Given the description of an element on the screen output the (x, y) to click on. 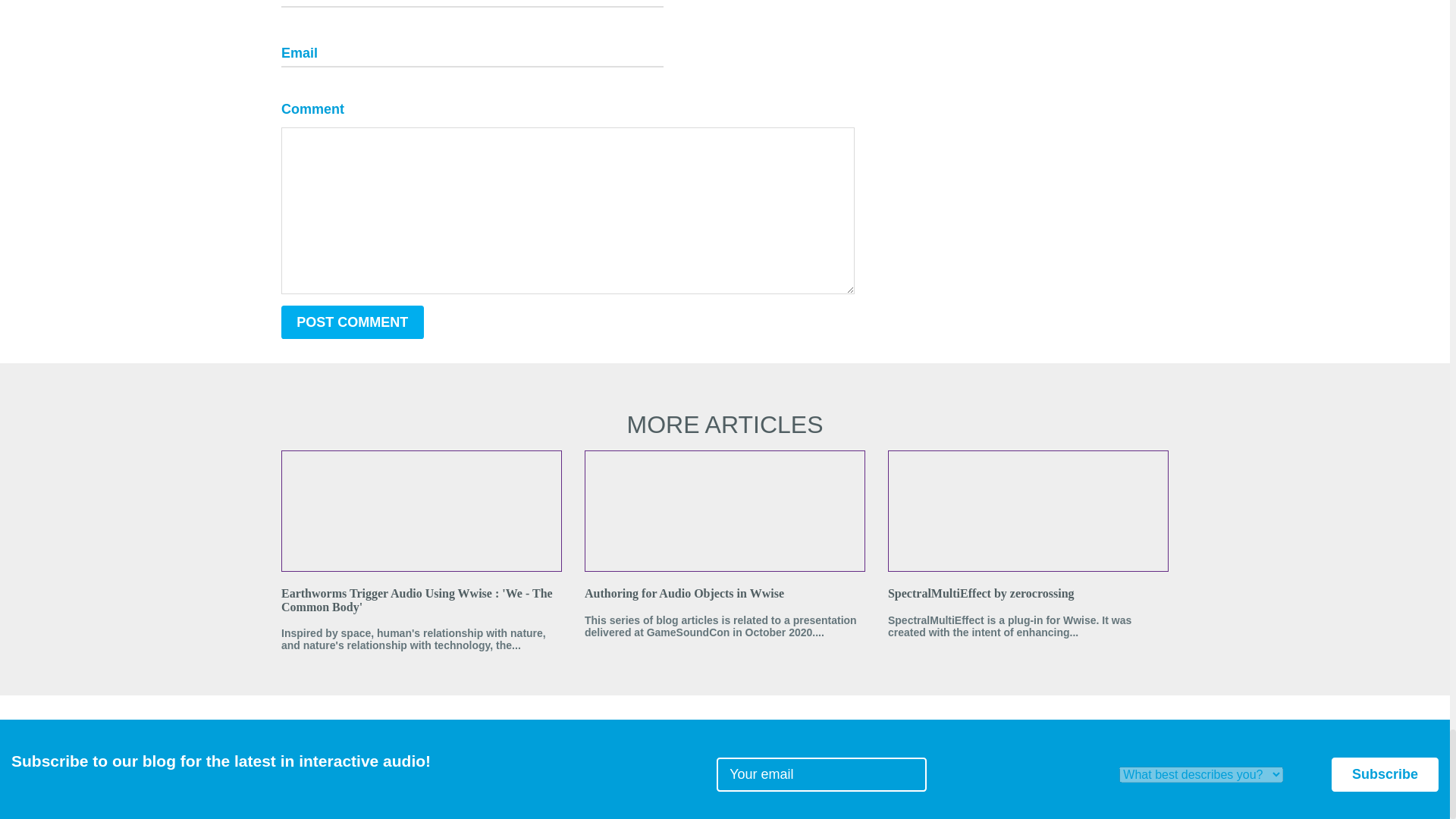
SpectralMultiEffect by zerocrossing (1028, 593)
Subscribe (1385, 774)
Authoring for Audio Objects in Wwise (724, 593)
POST COMMENT (352, 322)
